Given the description of an element on the screen output the (x, y) to click on. 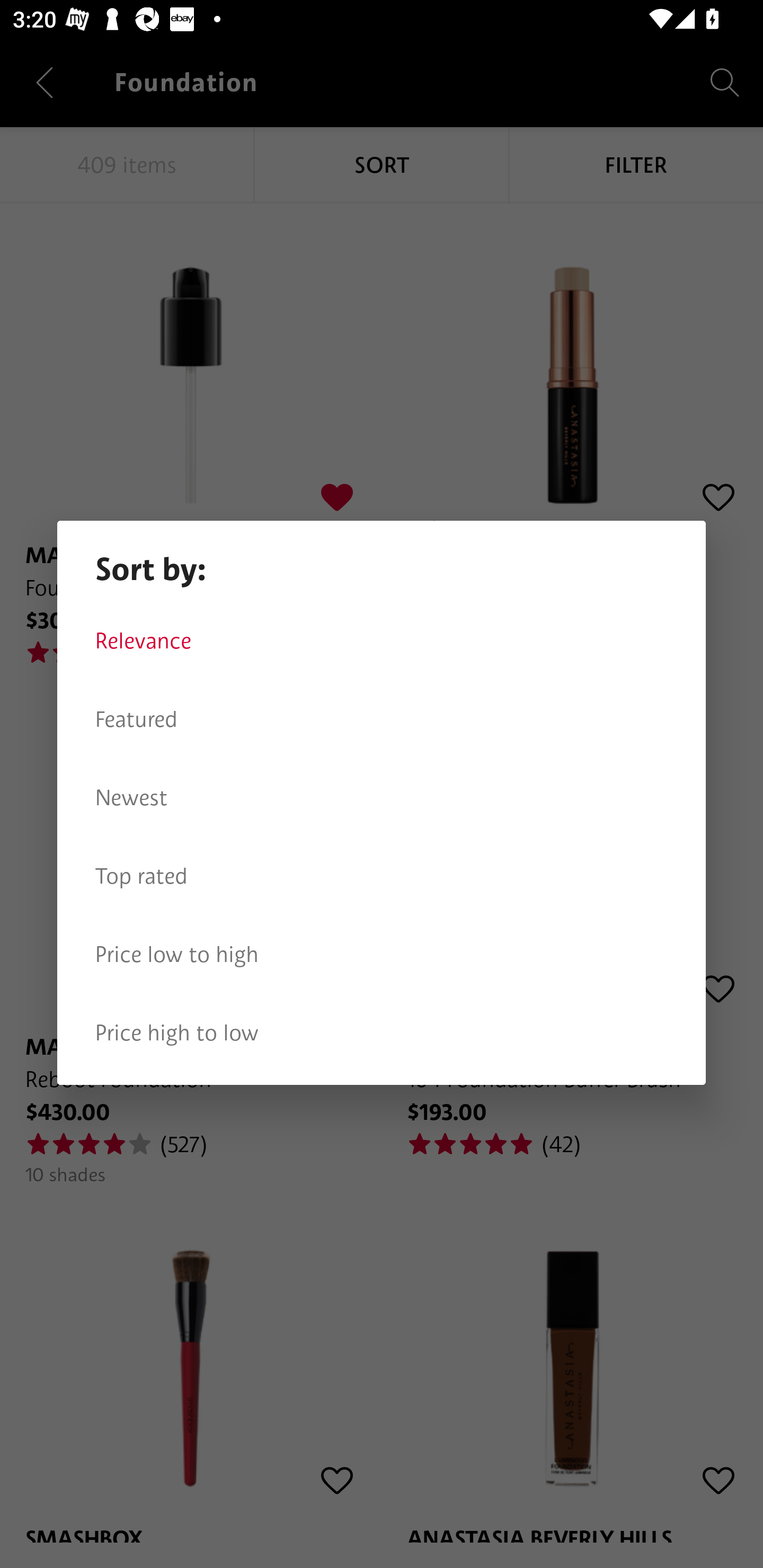
Relevance (381, 641)
Featured (381, 719)
Newest (381, 797)
Top rated (381, 876)
Price low to high (381, 954)
Price high to low (381, 1033)
